Given the description of an element on the screen output the (x, y) to click on. 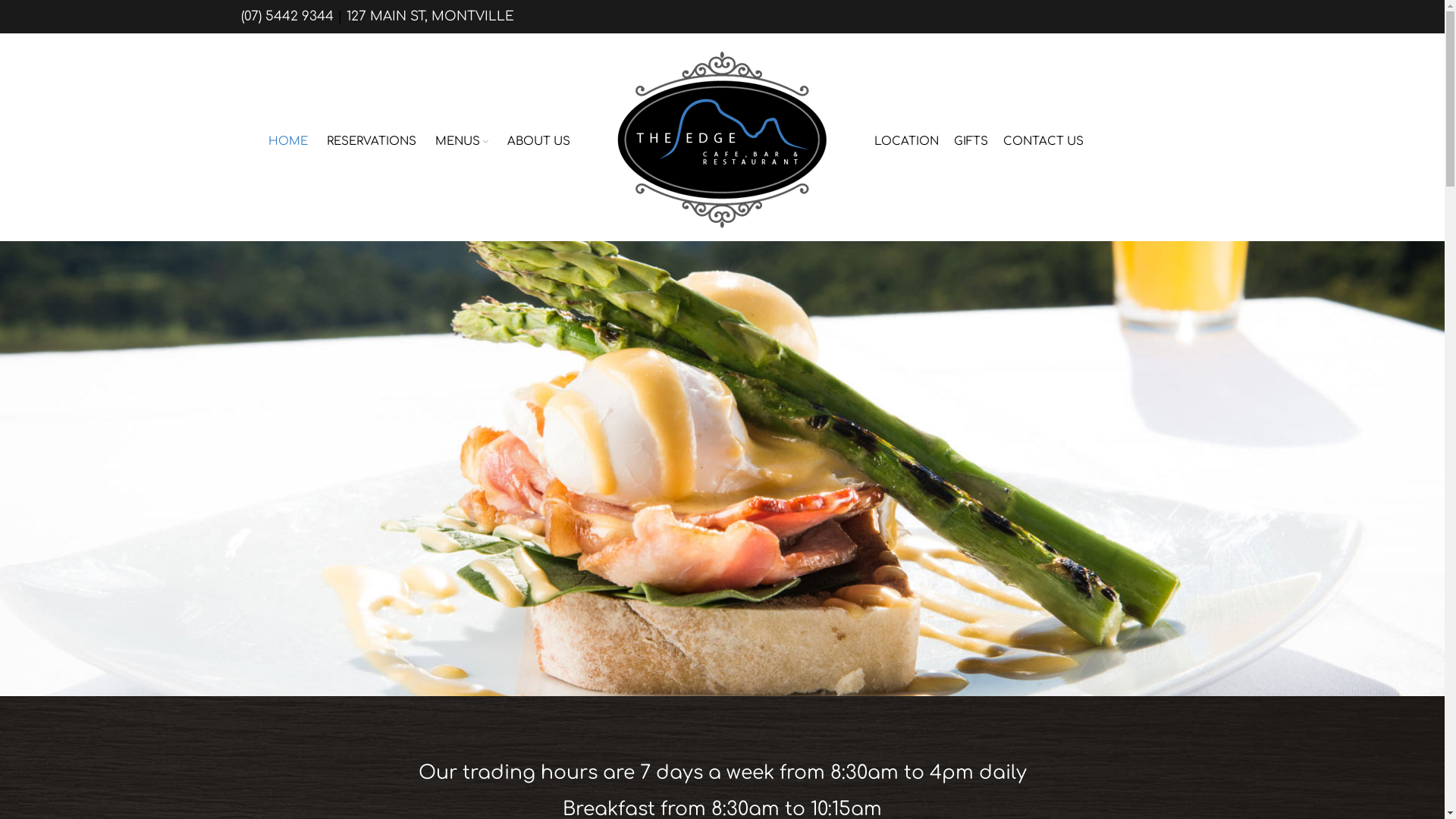
ABOUT US Element type: text (538, 139)
127 MAIN ST, MONTVILLE Element type: text (429, 16)
CONTACT US Element type: text (1043, 139)
MENUS Element type: text (461, 139)
HOME Element type: text (287, 139)
(07) 5442 9344 Element type: text (287, 16)
RESERVATIONS Element type: text (371, 139)
GIFTS Element type: text (970, 139)
LOCATION Element type: text (906, 139)
